Given the description of an element on the screen output the (x, y) to click on. 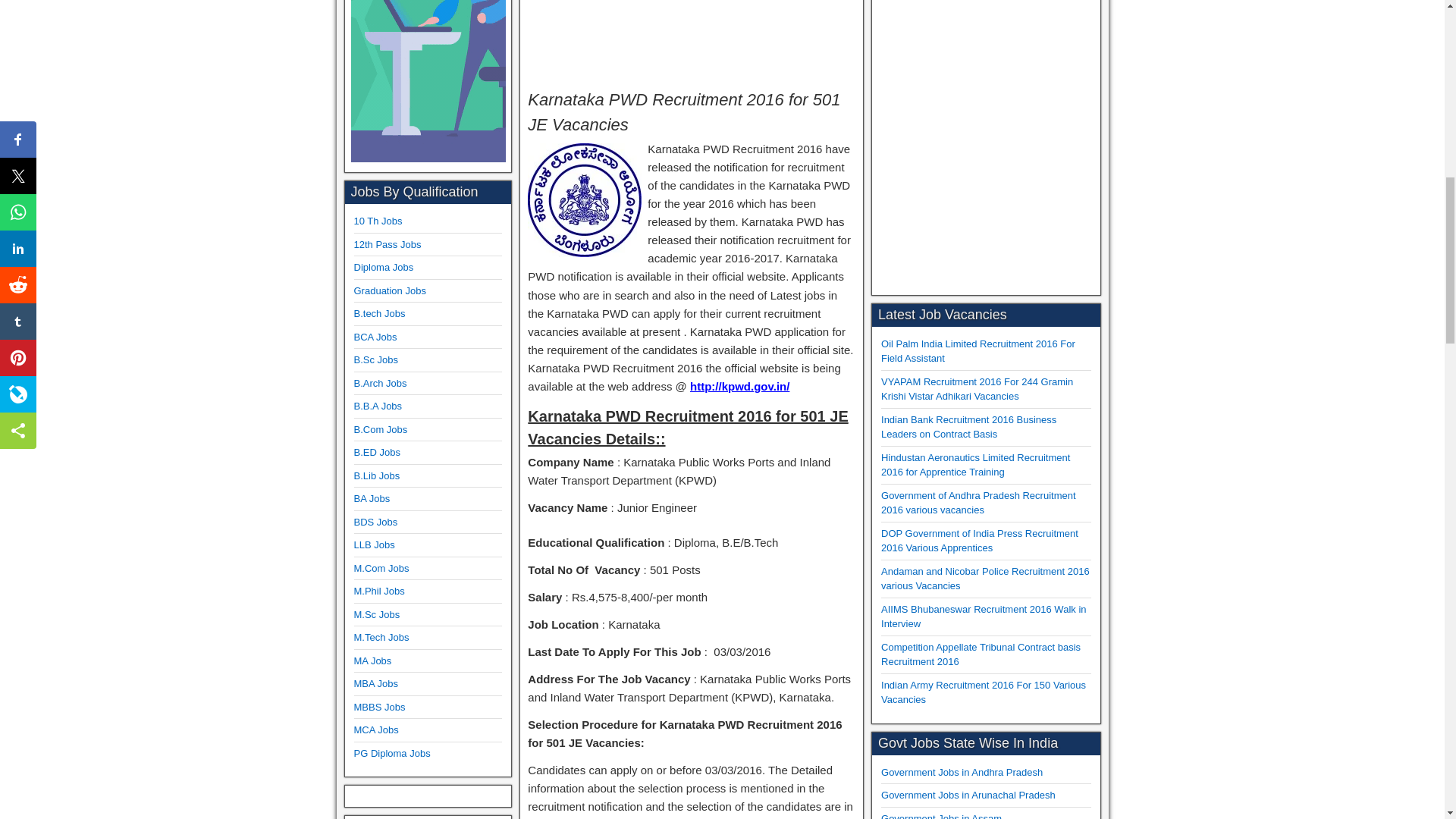
BA Jobs (371, 498)
B.Arch Jobs (379, 383)
BCA Jobs (374, 337)
Advertisement (691, 39)
M.Com Jobs (381, 568)
10 Th Jobs (377, 220)
BDS Jobs (375, 521)
Graduation Jobs (389, 290)
M.Sc Jobs (375, 614)
B.tech Jobs (378, 313)
